Given the description of an element on the screen output the (x, y) to click on. 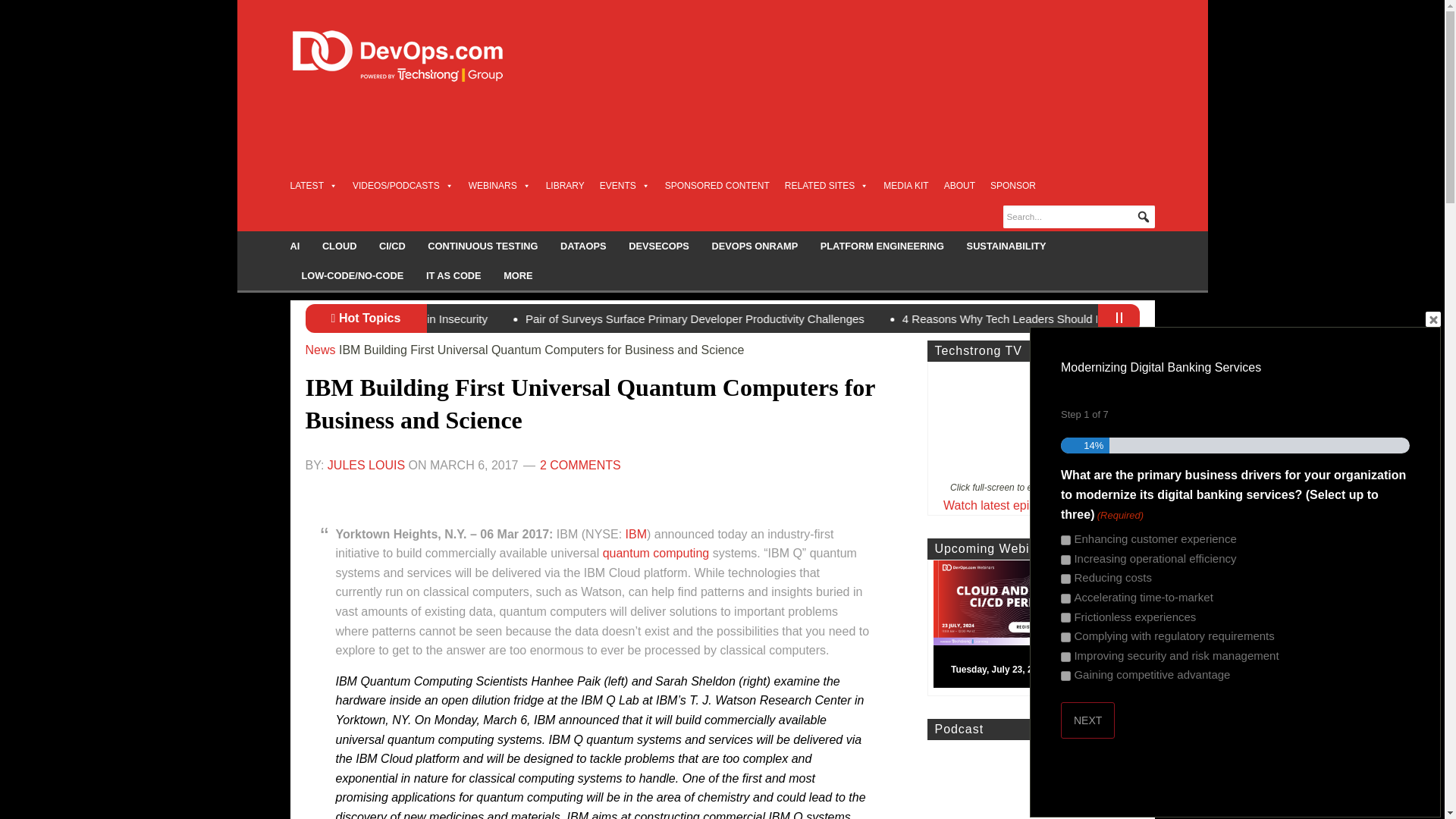
Frictionless experiences (1065, 617)
SPONSORED CONTENT (717, 185)
Complying with regulatory requirements (1065, 637)
Enhancing customer experience (1065, 540)
LATEST (312, 185)
EVENTS (624, 185)
Improving security and risk management (1065, 656)
WEBINARS (499, 185)
AI-Powered Solutions for Azure DevOps Pipelines (547, 318)
Next (1088, 719)
Accelerating time-to-market (1065, 598)
Reducing costs (1065, 578)
DEVOPS.COM (414, 56)
